Given the description of an element on the screen output the (x, y) to click on. 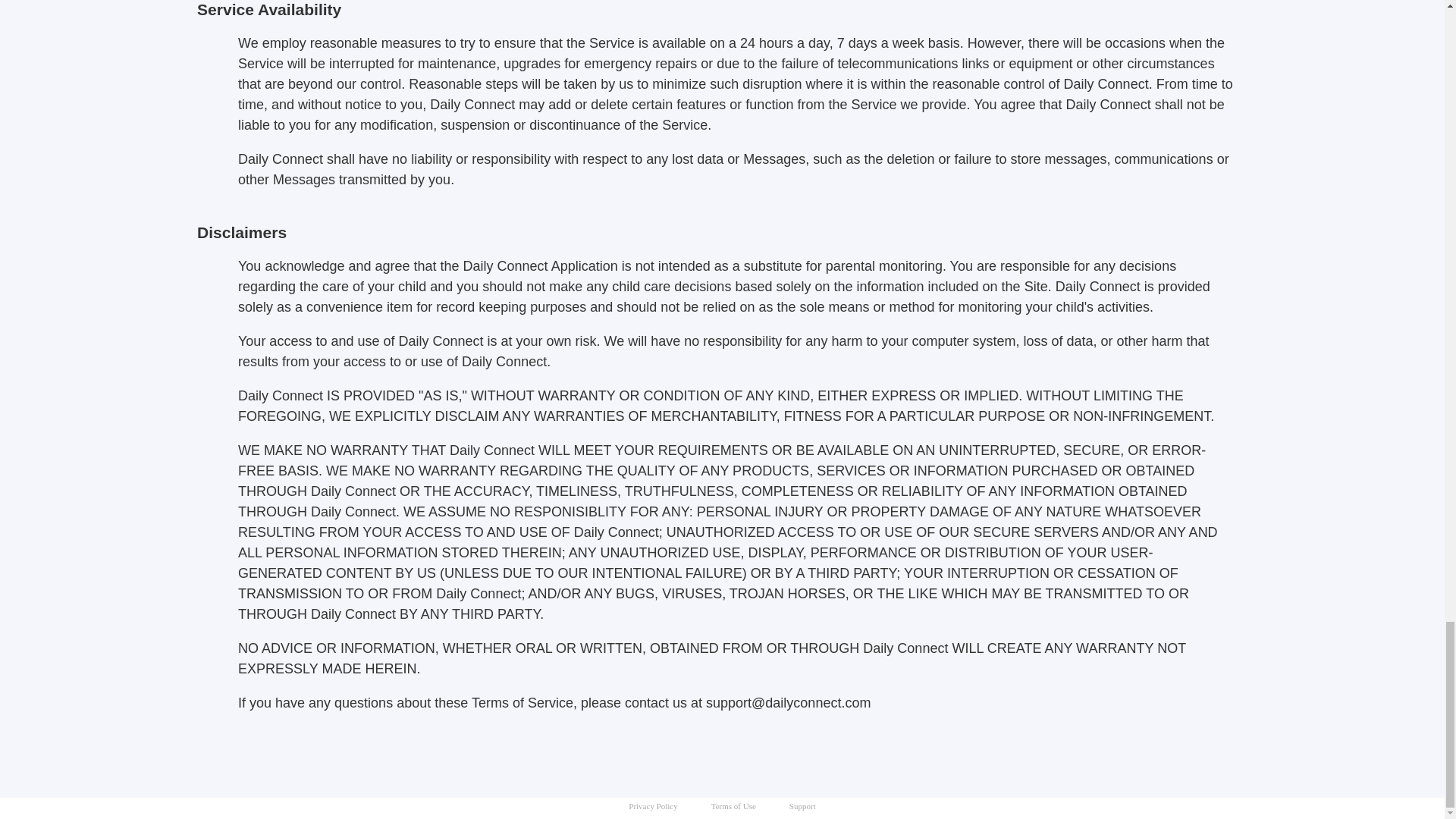
Privacy Policy (652, 805)
Terms of Use (733, 805)
Support (802, 805)
